Given the description of an element on the screen output the (x, y) to click on. 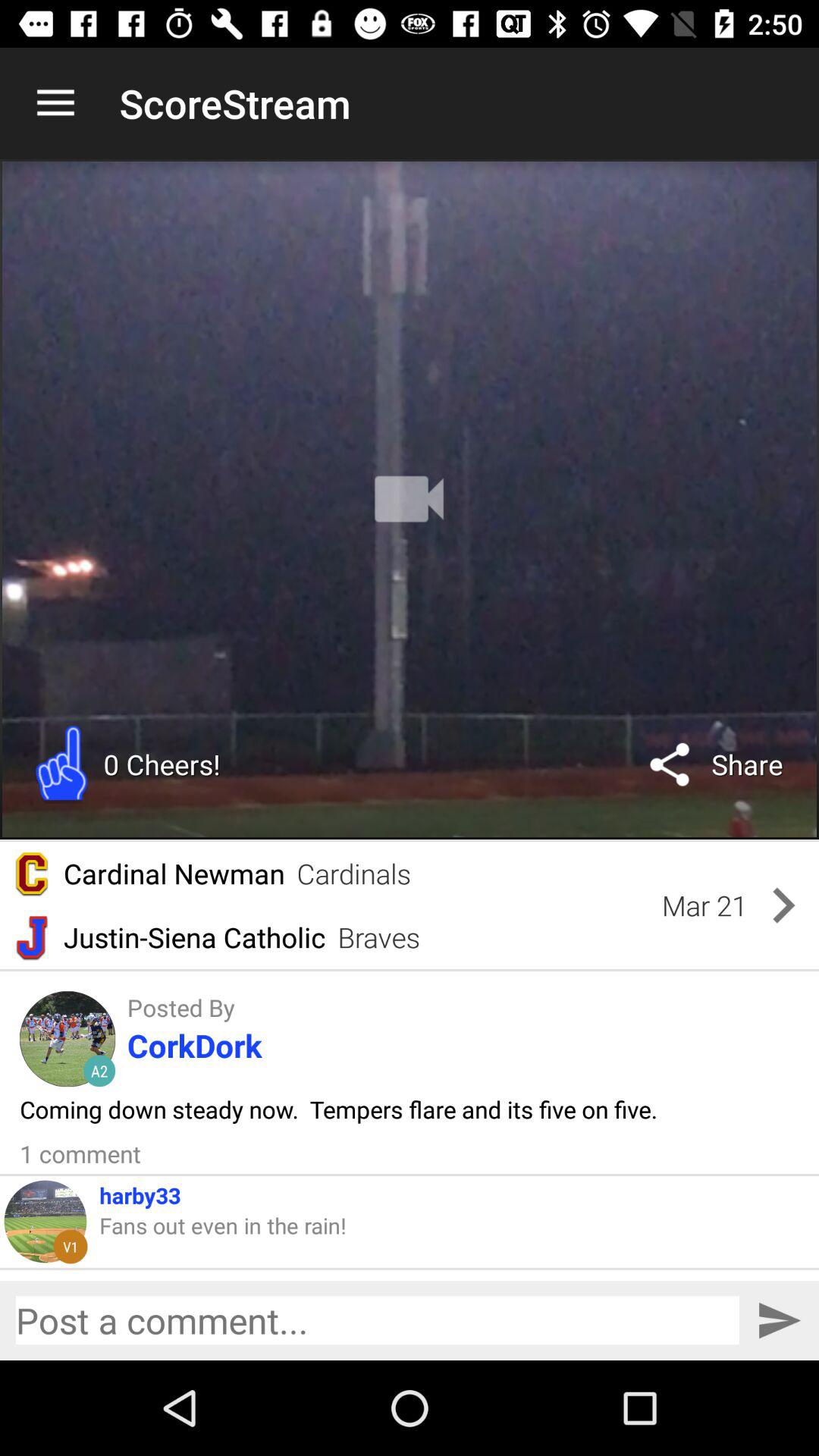
turn off v1 (70, 1246)
